Given the description of an element on the screen output the (x, y) to click on. 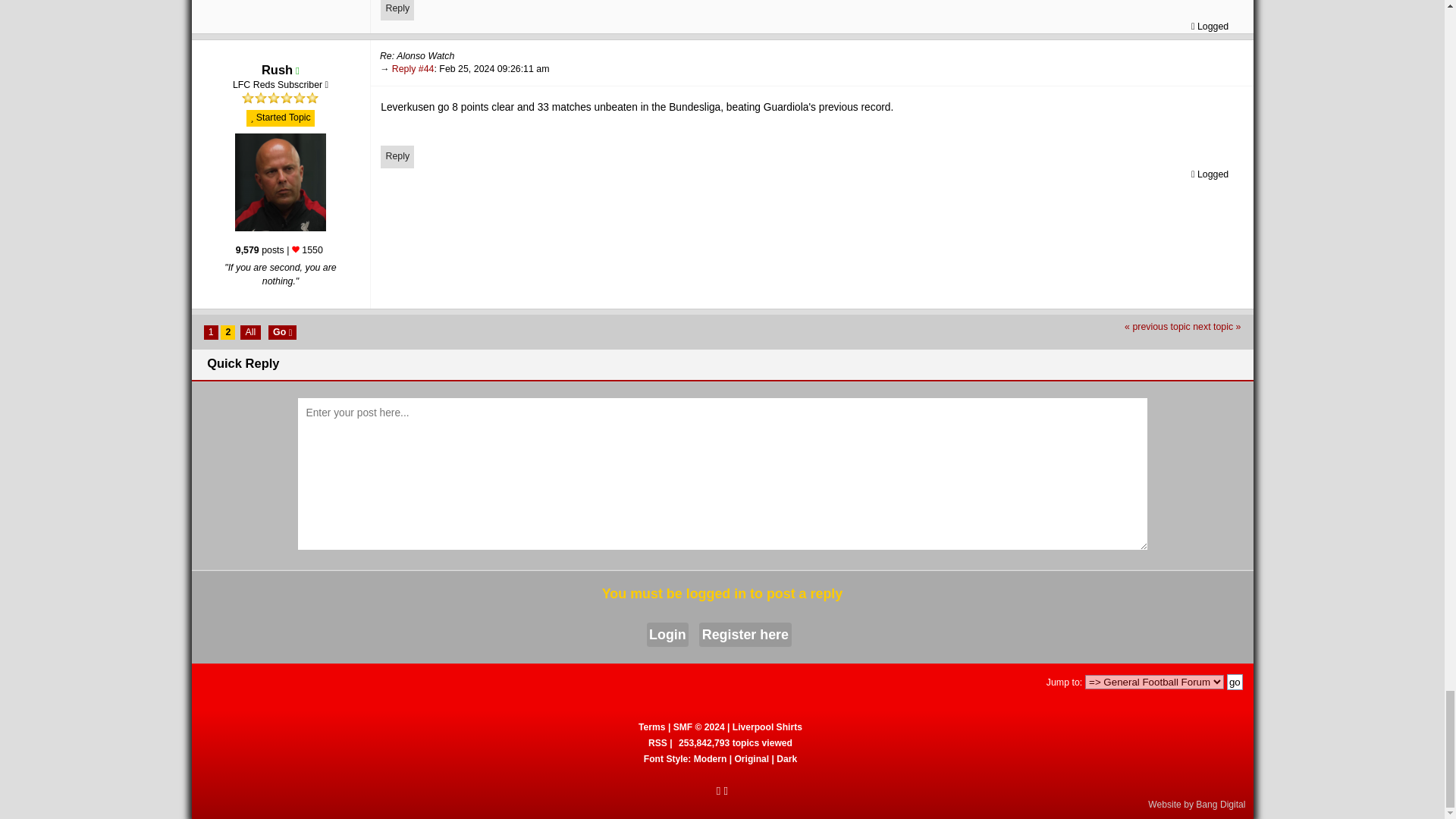
go (1235, 682)
